Given the description of an element on the screen output the (x, y) to click on. 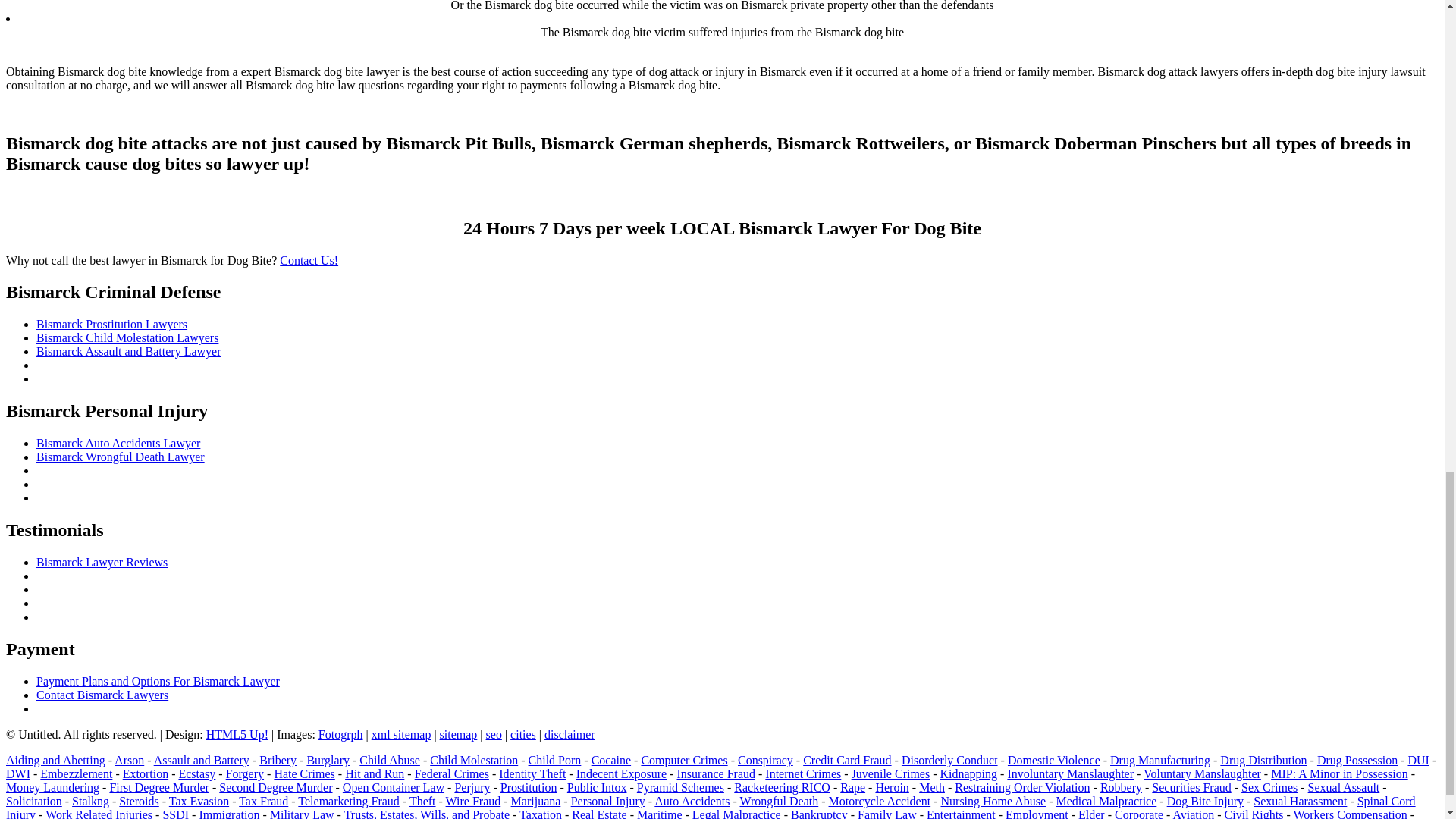
HTML5 Up! (236, 734)
Drug Distribution (1263, 759)
Payment Plans and Options For Bismarck Lawyer (157, 680)
Child Abuse (389, 759)
Arson (129, 759)
Bismarck Child Molestation Lawyers (127, 337)
Computer Crimes (683, 759)
Contact Us! (308, 259)
Cocaine (610, 759)
xml sitemap (400, 734)
cities (523, 734)
Bribery (278, 759)
Child Porn (554, 759)
sitemap (458, 734)
seo (494, 734)
